Given the description of an element on the screen output the (x, y) to click on. 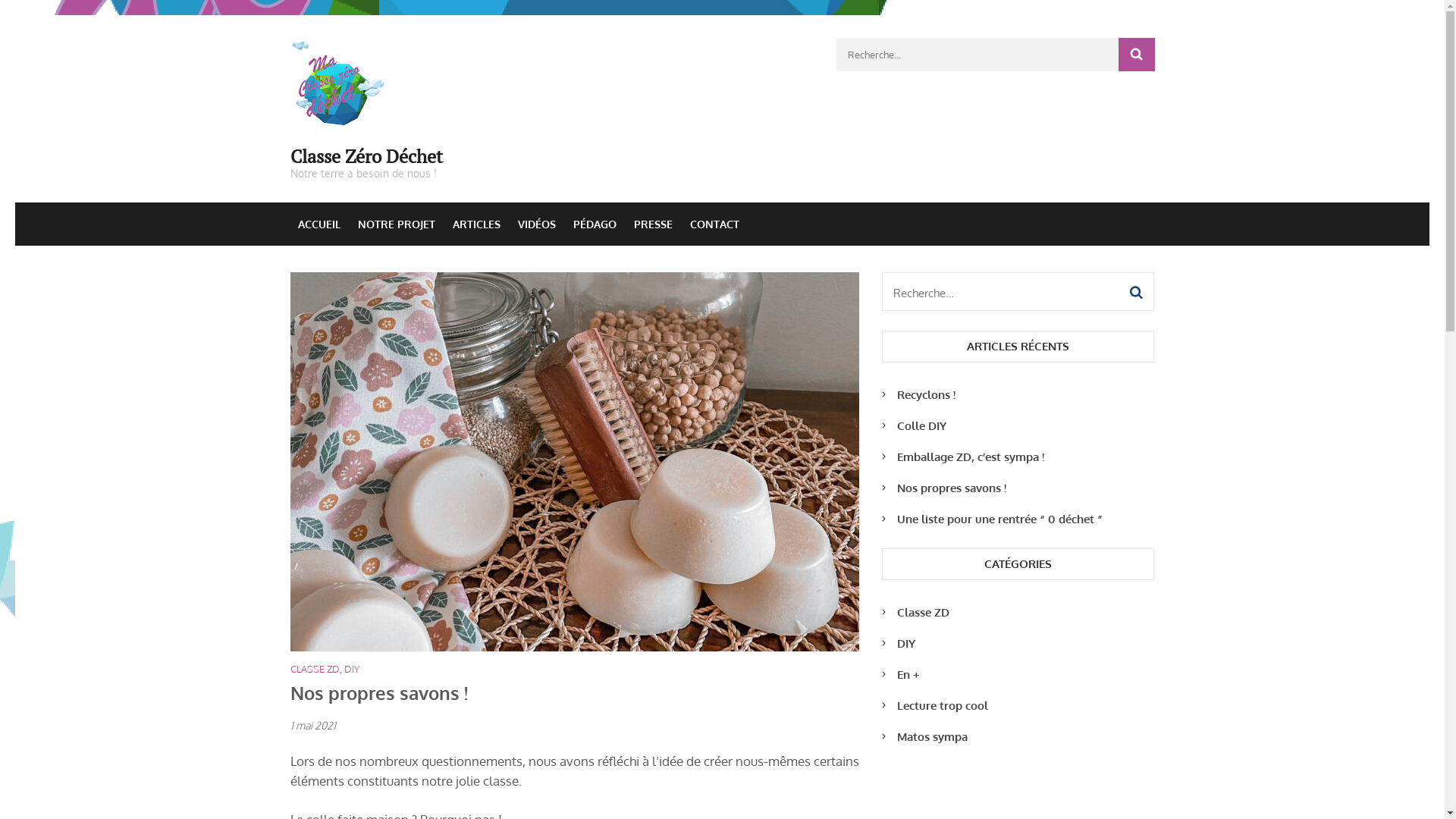
Rechercher Element type: text (1135, 54)
Lecture trop cool Element type: text (941, 705)
CONTACT Element type: text (714, 223)
Colle DIY Element type: text (920, 425)
Recyclons ! Element type: text (925, 393)
En + Element type: text (907, 674)
ACCUEIL Element type: text (318, 223)
PRESSE Element type: text (653, 223)
Classe ZD Element type: text (922, 612)
Nos propres savons ! Element type: text (950, 487)
DIY Element type: text (351, 668)
NOTRE PROJET Element type: text (396, 223)
CLASSE ZD Element type: text (313, 668)
Rechercher Element type: text (1135, 292)
1 mai 2021 Element type: text (312, 724)
DIY Element type: text (905, 643)
ARTICLES Element type: text (475, 223)
Matos sympa Element type: text (931, 736)
